Given the description of an element on the screen output the (x, y) to click on. 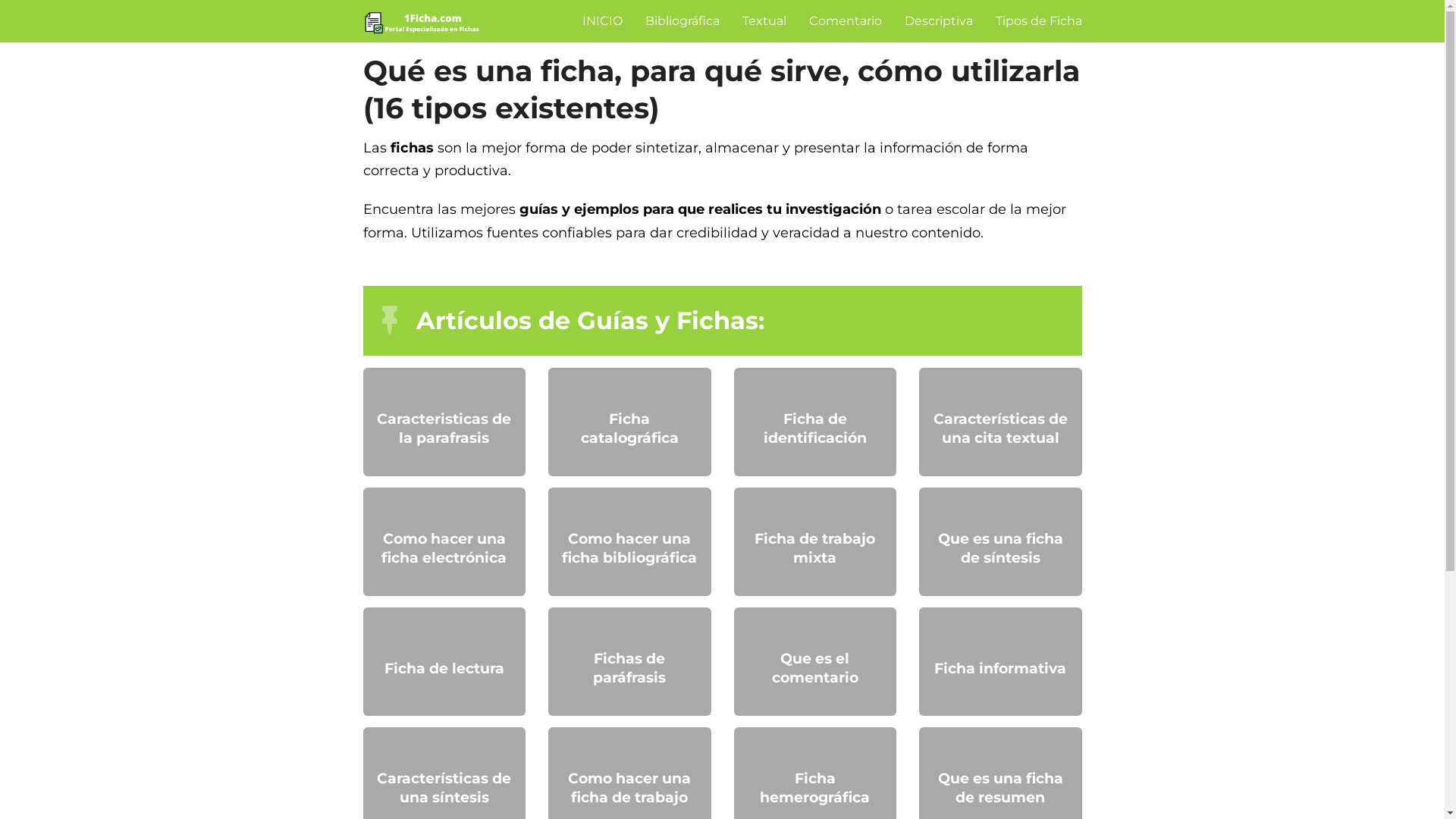
Que es el comentario Element type: text (814, 668)
Comentario Element type: text (844, 20)
Ficha de lectura Element type: text (444, 668)
Tipos de Ficha Element type: text (1037, 20)
INICIO Element type: text (602, 20)
Como hacer una ficha de trabajo Element type: text (629, 788)
Textual Element type: text (763, 20)
Caracteristicas de la parafrasis Element type: text (444, 429)
Ficha de trabajo mixta Element type: text (814, 548)
Descriptiva Element type: text (937, 20)
Ficha informativa Element type: text (1000, 668)
Que es una ficha de resumen Element type: text (1000, 788)
